Given the description of an element on the screen output the (x, y) to click on. 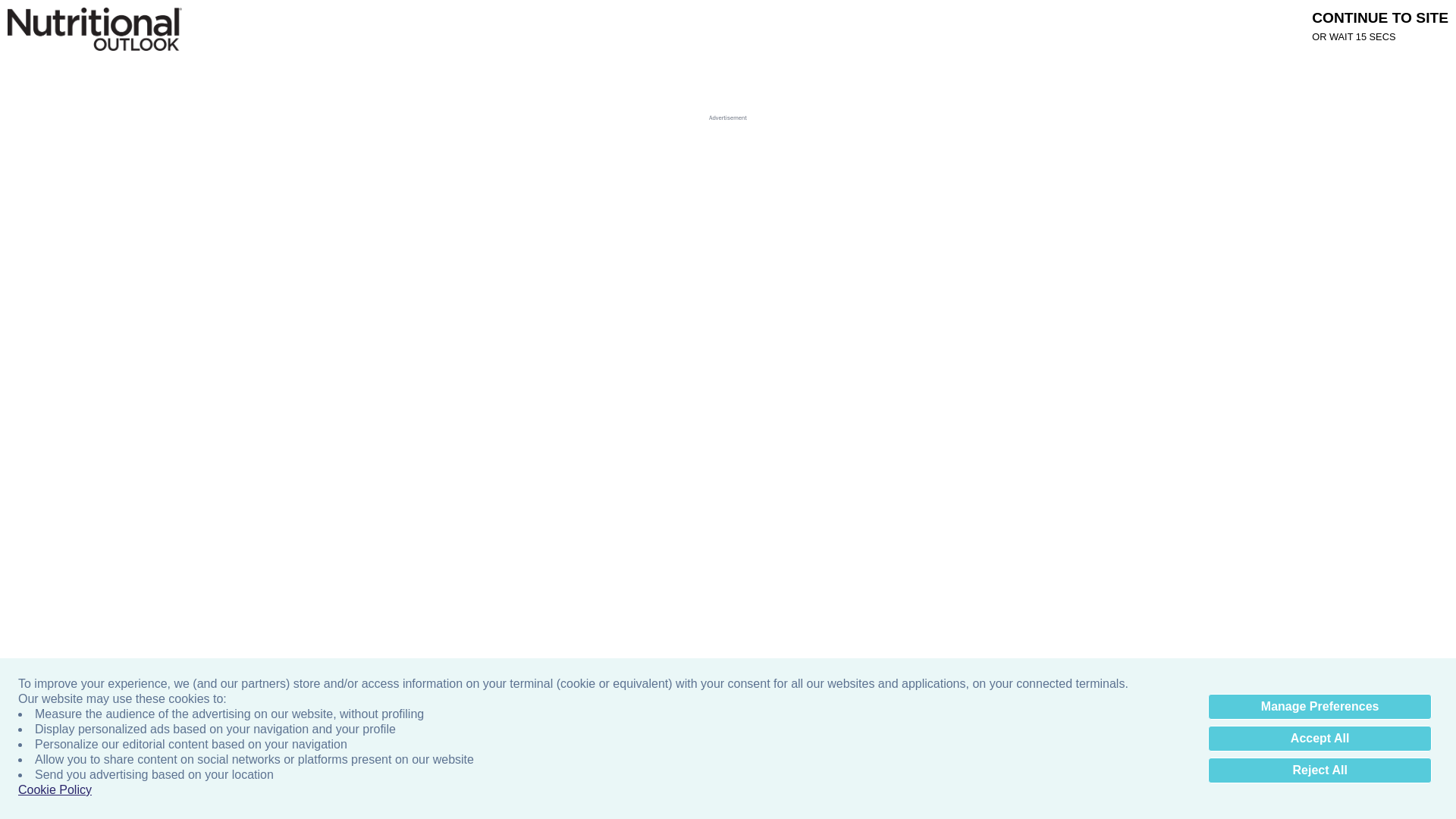
WIN (952, 24)
Choose Topic (280, 67)
Media (438, 24)
Awards (486, 24)
3rd party ad content (715, 133)
Accept All (1319, 738)
Directory (839, 24)
Reject All (1319, 769)
Publications (600, 24)
Subscribe (784, 24)
